Given the description of an element on the screen output the (x, y) to click on. 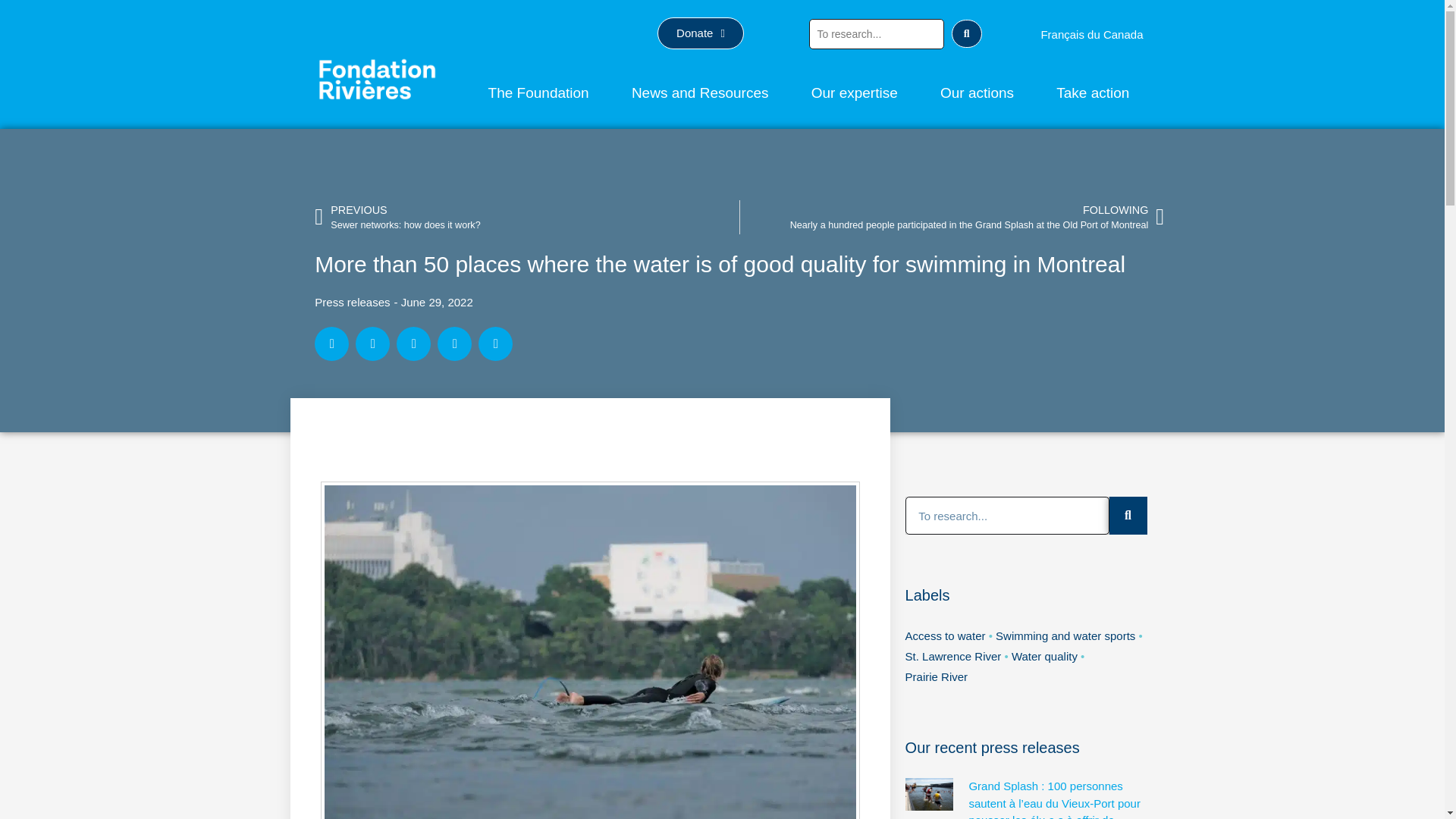
Donate (701, 33)
Our actions (976, 93)
The Foundation (537, 93)
Our expertise (854, 93)
News and Resources (700, 93)
